Given the description of an element on the screen output the (x, y) to click on. 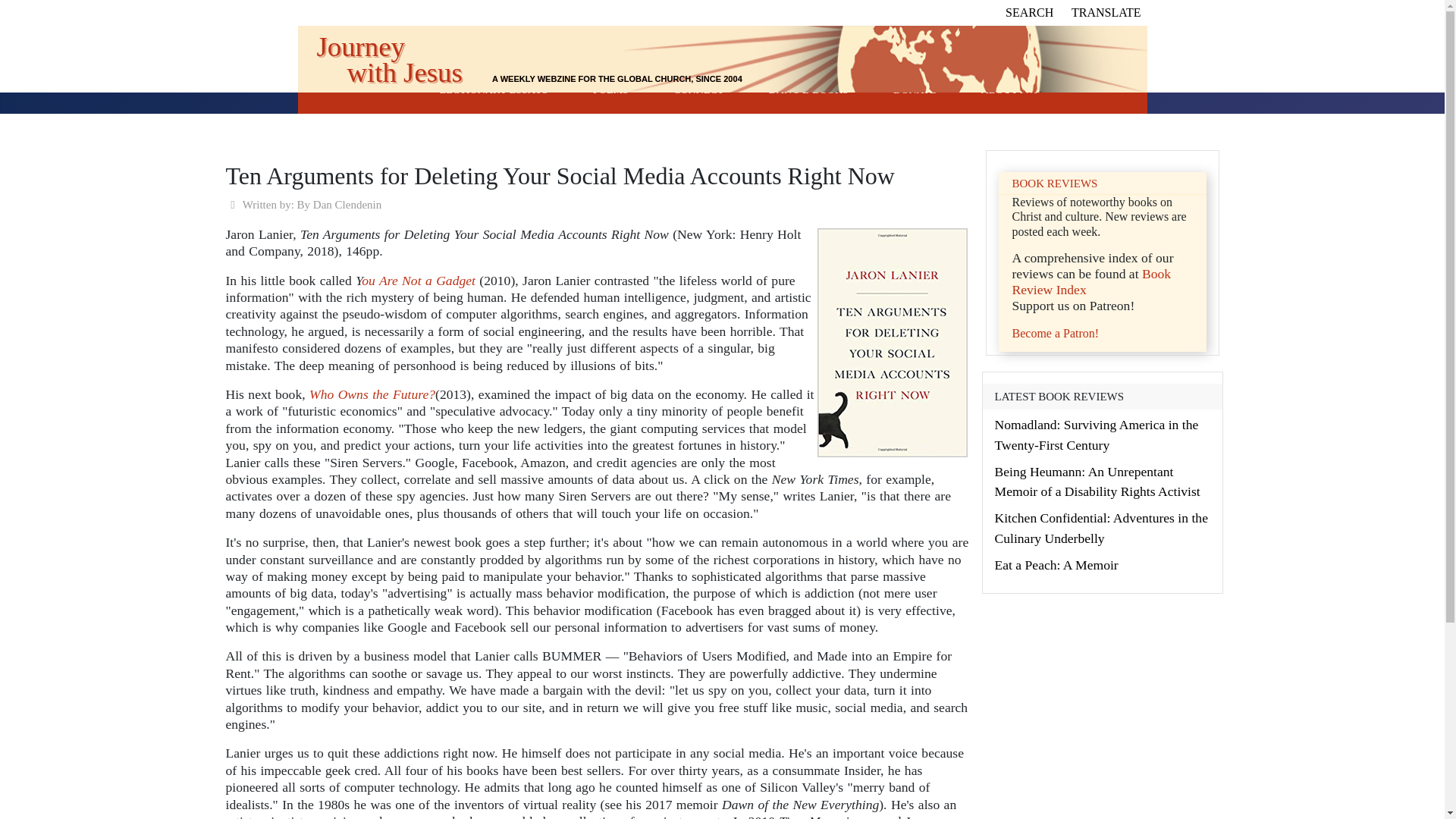
Book Review Index (1090, 281)
Nomadland: Surviving America in the Twenty-First Century (1096, 434)
CONNECT (697, 89)
DONATE (914, 89)
HOME (388, 89)
LECTIONARY ESSAYS (493, 89)
SEARCH (1029, 11)
ou Are Not a Gadget (418, 280)
DAN'S E-BOOKS (808, 89)
POEMS (610, 89)
Become a Patron! (1055, 332)
Who Owns the Future? (371, 394)
ABOUT JWJ (1010, 89)
Kitchen Confidential: Adventures in the Culinary Underbelly (1101, 527)
